Given the description of an element on the screen output the (x, y) to click on. 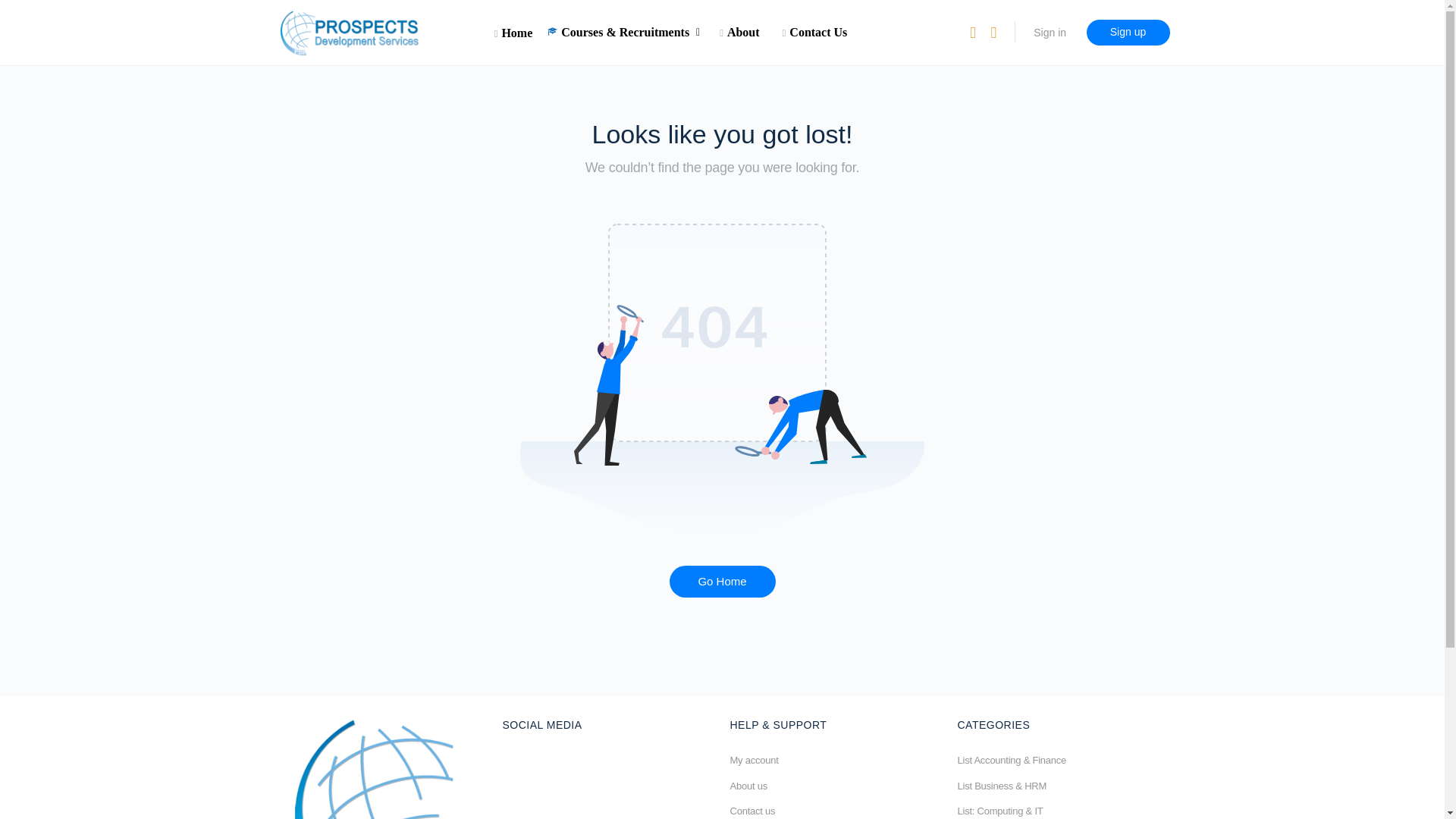
Sign in (1050, 32)
Home (513, 32)
Sign up (1127, 32)
About (738, 32)
Contact Us (815, 32)
